Given the description of an element on the screen output the (x, y) to click on. 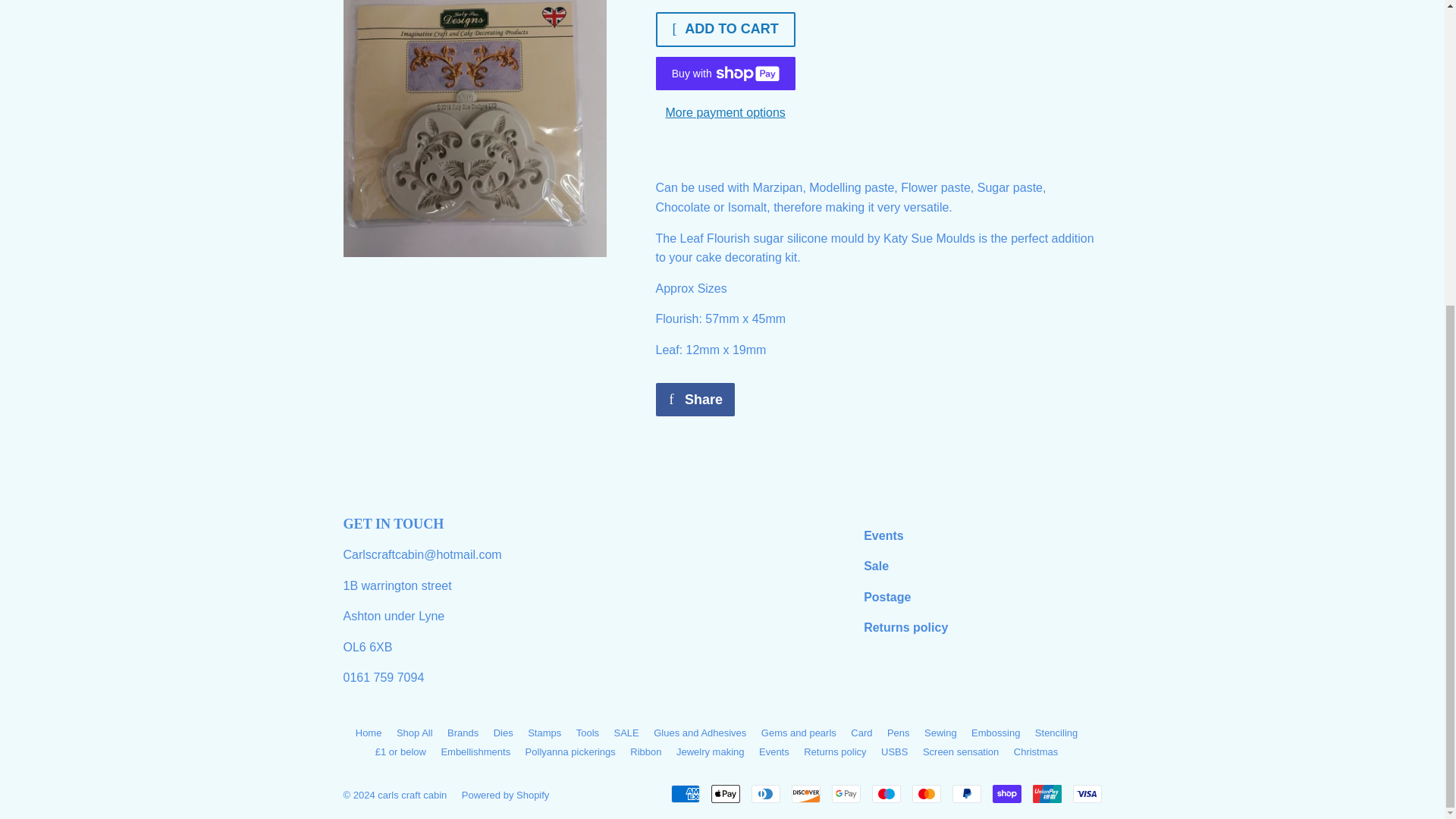
Mastercard (925, 793)
SALE (875, 565)
PayPal (966, 793)
Returns policy (905, 626)
Visa (1085, 793)
Maestro (886, 793)
Apple Pay (725, 793)
Union Pay (1046, 793)
Postage (887, 596)
Diners Club (764, 793)
